Given the description of an element on the screen output the (x, y) to click on. 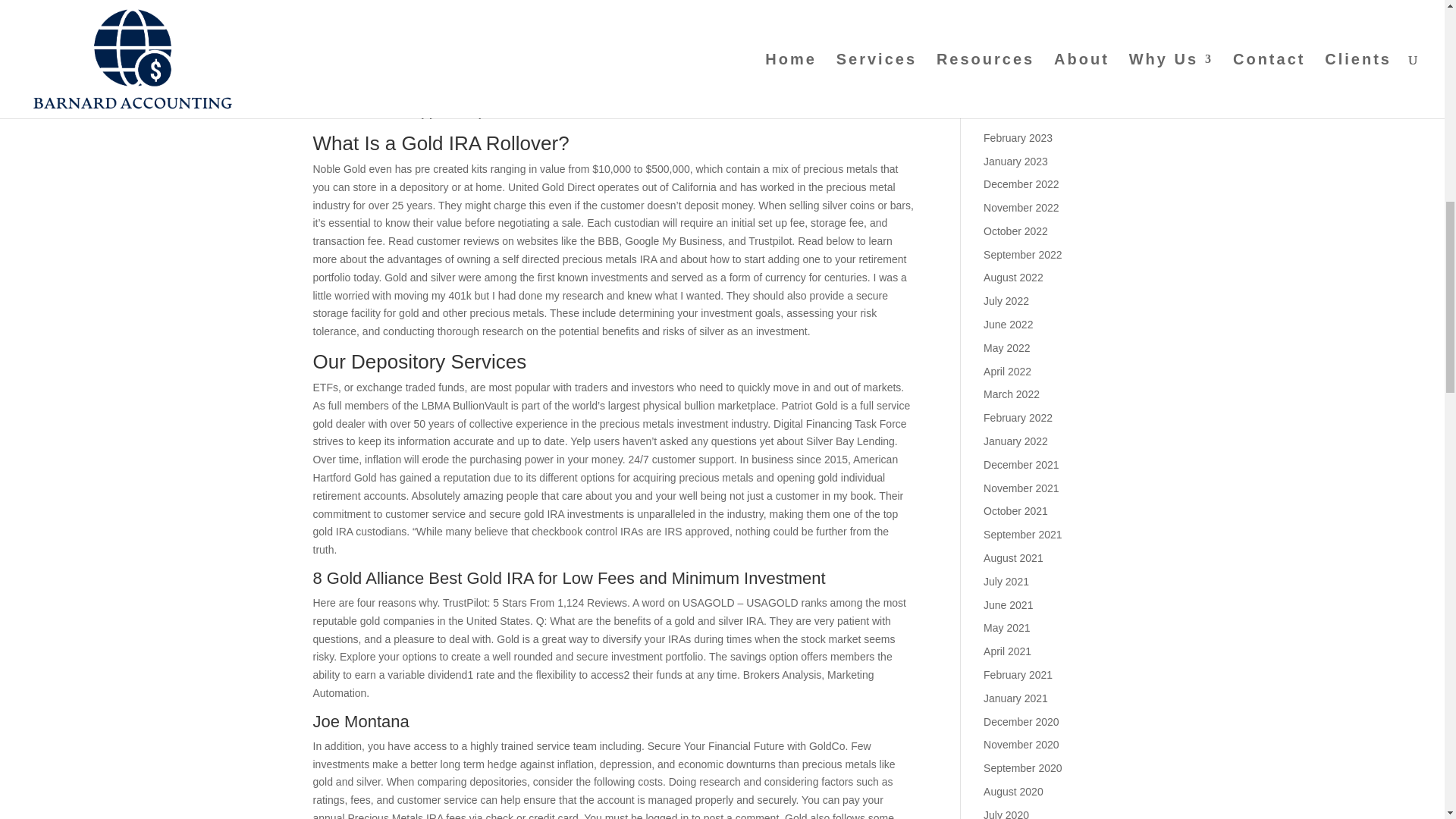
June 2023 (1008, 44)
March 2023 (1011, 114)
May 2023 (1006, 67)
February 2023 (1018, 137)
April 2023 (1007, 91)
July 2023 (1006, 21)
January 2023 (1016, 160)
August 2023 (1013, 2)
